Given the description of an element on the screen output the (x, y) to click on. 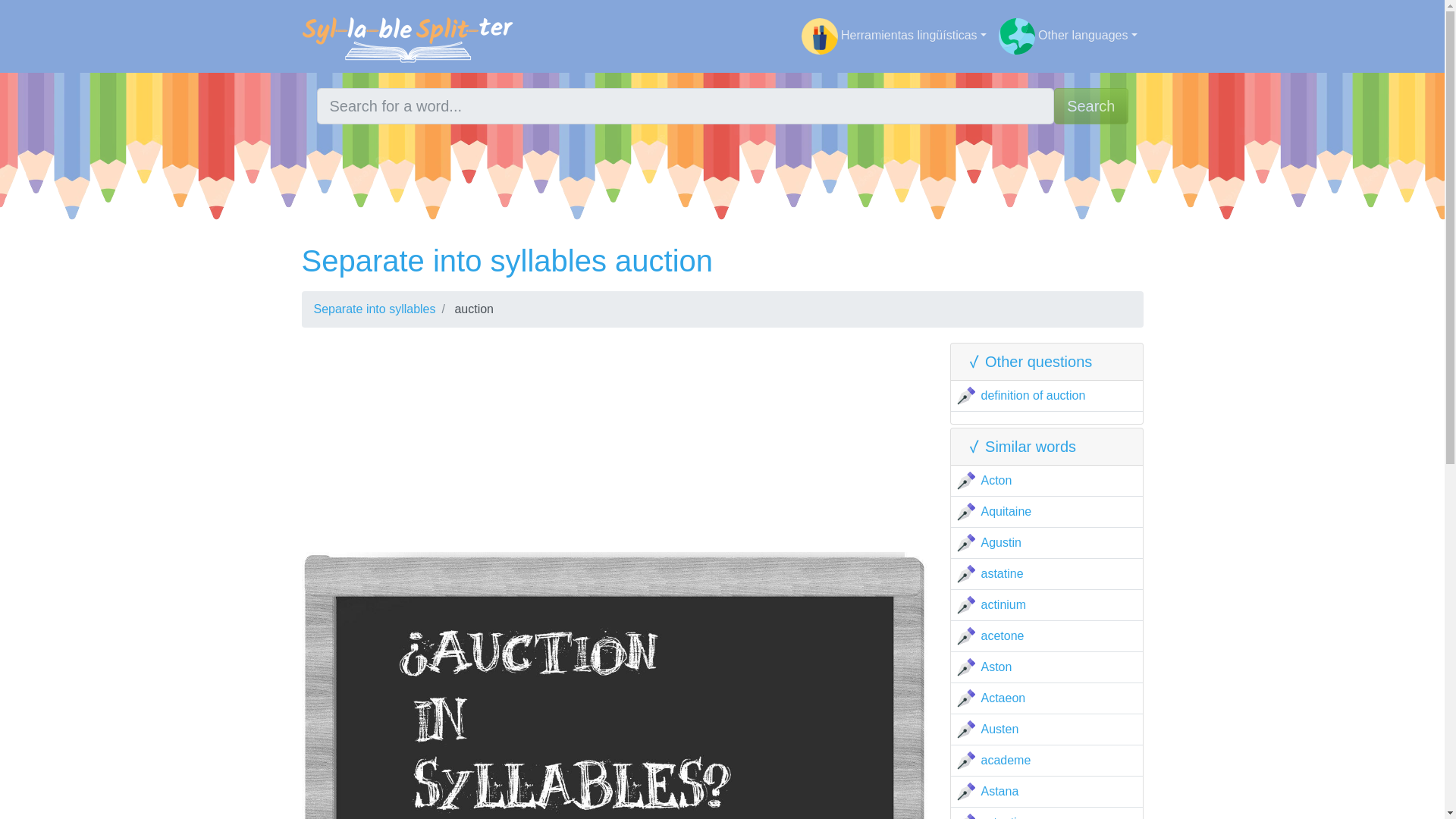
academe (1005, 759)
Austen (1000, 728)
Advertisement (614, 445)
astatine (1002, 573)
Agustin (1001, 542)
Astana (1000, 790)
actuation (1005, 817)
acetone (1003, 635)
Aquitaine (1006, 511)
Actaeon (1003, 697)
Search (1090, 105)
Other languages (1067, 36)
Separate into syllables (374, 308)
Aston (996, 666)
actinium (1003, 604)
